Given the description of an element on the screen output the (x, y) to click on. 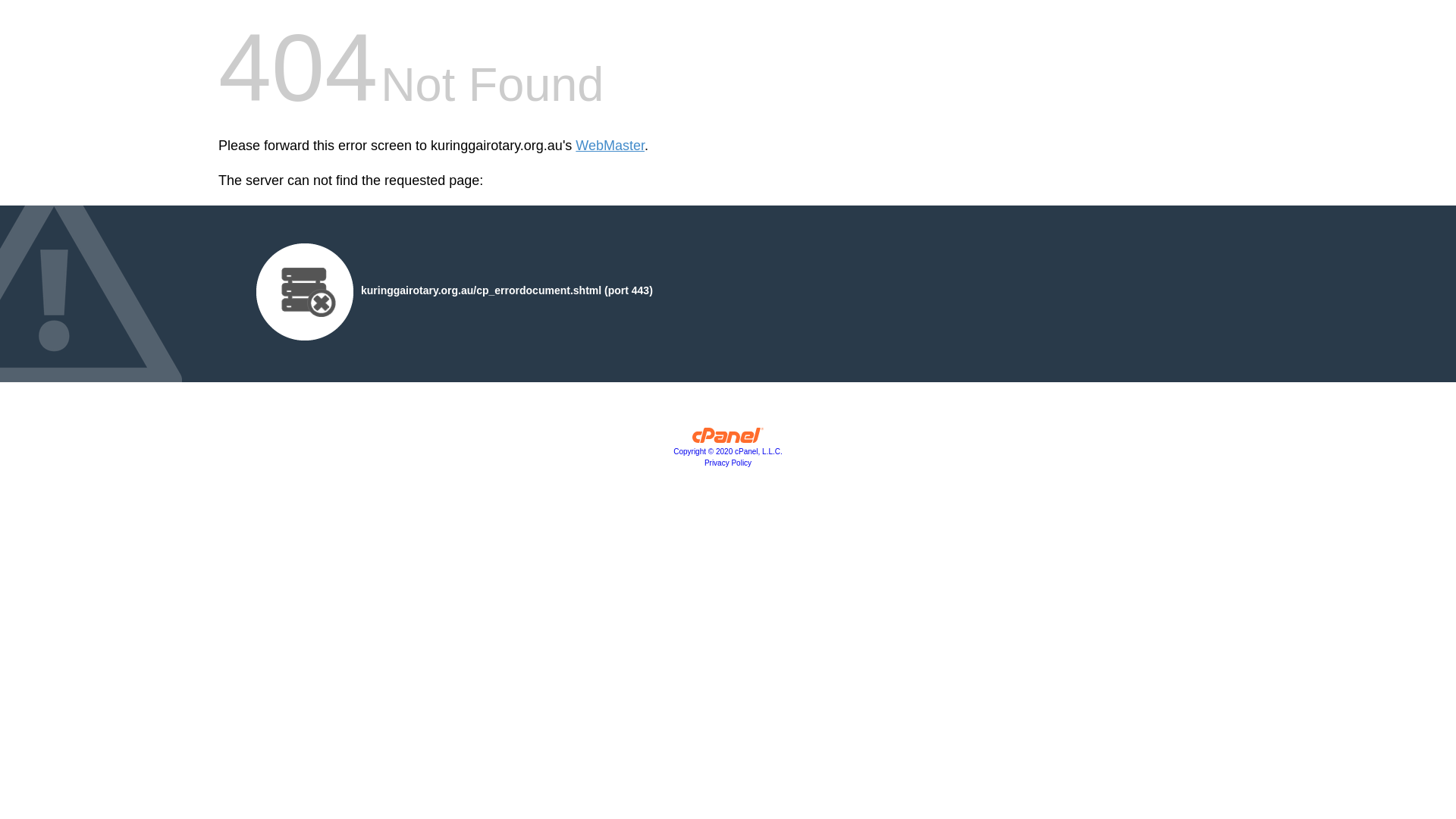
WebMaster Element type: text (609, 145)
Privacy Policy Element type: text (727, 462)
cPanel, Inc. Element type: hover (728, 439)
